Given the description of an element on the screen output the (x, y) to click on. 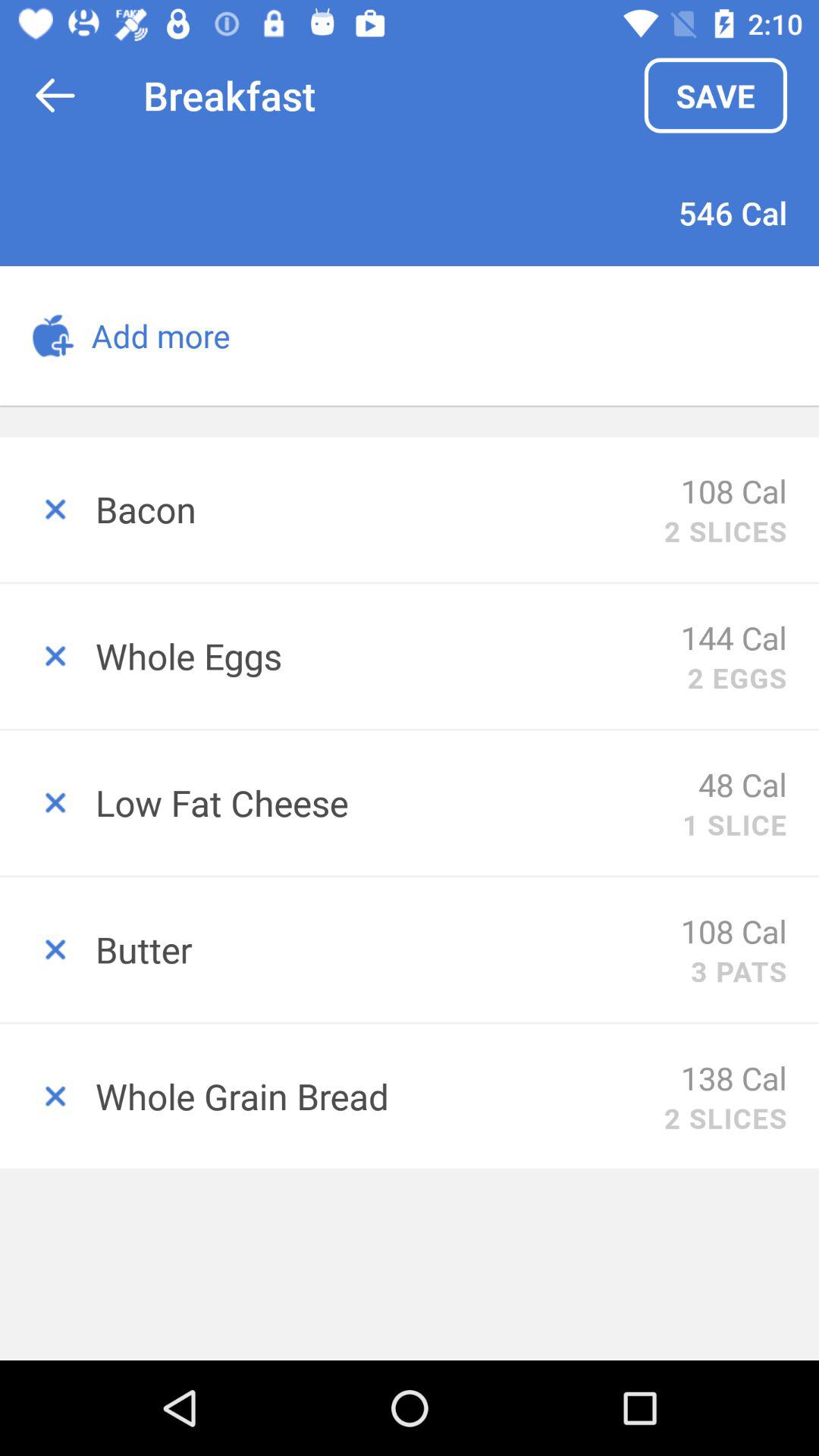
scroll to the bacon (379, 509)
